Given the description of an element on the screen output the (x, y) to click on. 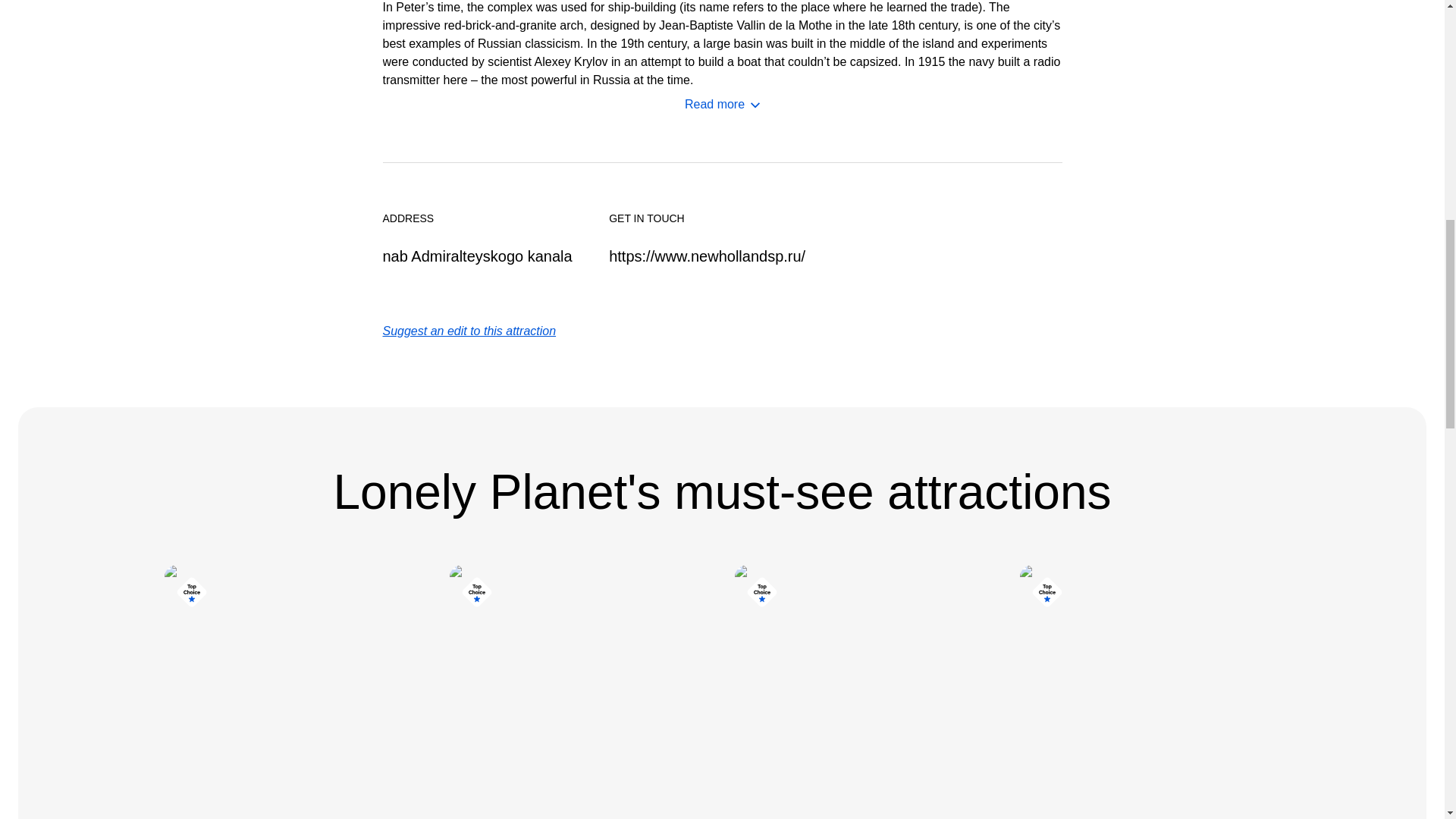
Read more (722, 104)
Suggest an edit to this attraction (468, 330)
nab Admiralteyskogo kanala (476, 256)
